Given the description of an element on the screen output the (x, y) to click on. 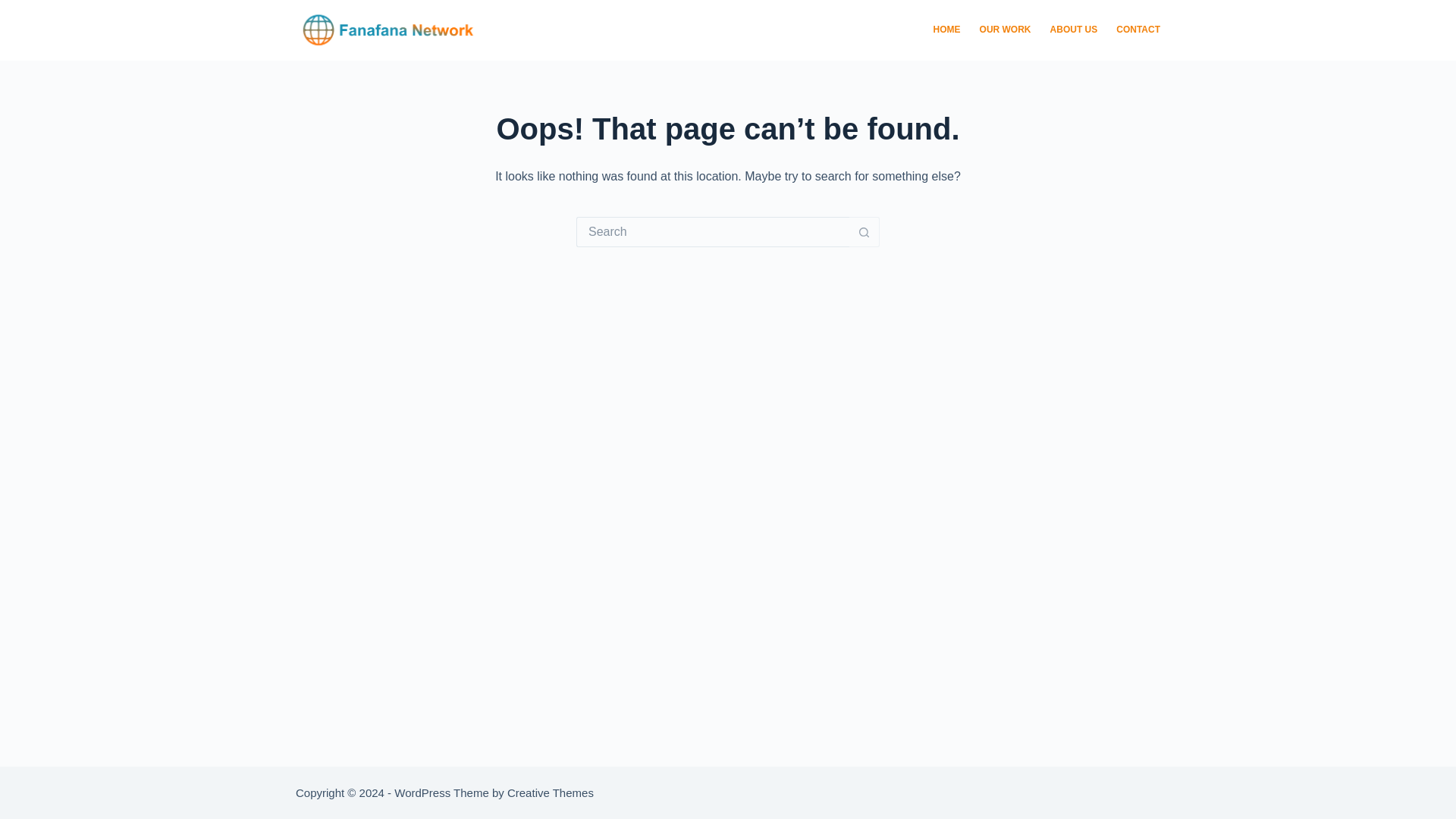
Creative Themes (550, 791)
ABOUT US (1073, 30)
Search for... (712, 232)
OUR WORK (1005, 30)
Skip to content (15, 7)
